Given the description of an element on the screen output the (x, y) to click on. 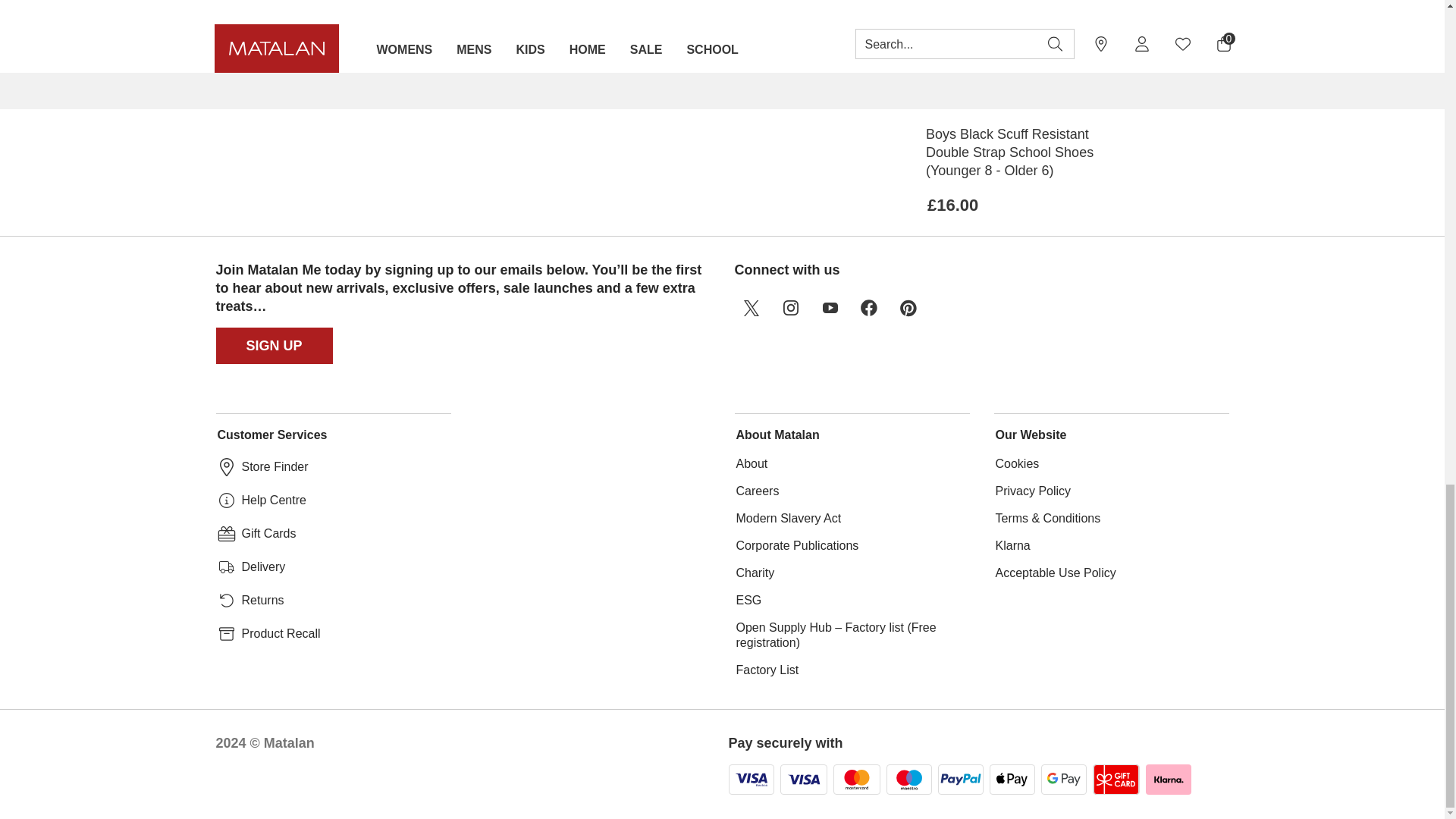
Help Centre (273, 500)
youtube (828, 307)
Gift Cards (268, 533)
twitter (750, 307)
Store Finder (274, 467)
facebook (868, 307)
instagram (789, 307)
SIGN UP (273, 345)
pinterest (907, 307)
